Given the description of an element on the screen output the (x, y) to click on. 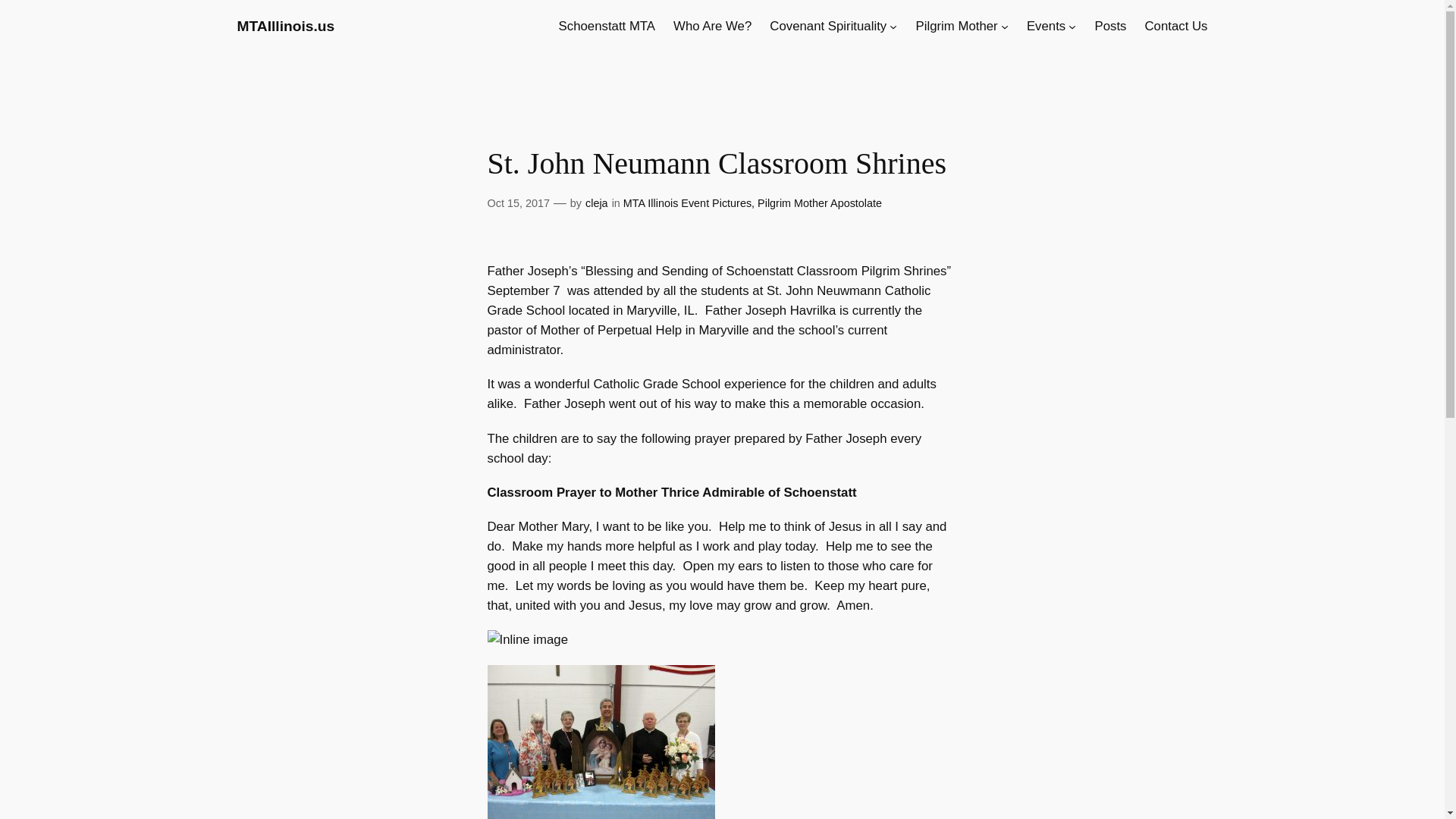
Events (1045, 26)
Covenant Spirituality (828, 26)
Schoenstatt MTA (607, 26)
Pilgrim Mother (956, 26)
Contact Us (1175, 26)
Oct 15, 2017 (517, 203)
MTA Illinois Event Pictures (687, 203)
Who Are We? (711, 26)
Posts (1110, 26)
MTAIllinois.us (284, 26)
